Given the description of an element on the screen output the (x, y) to click on. 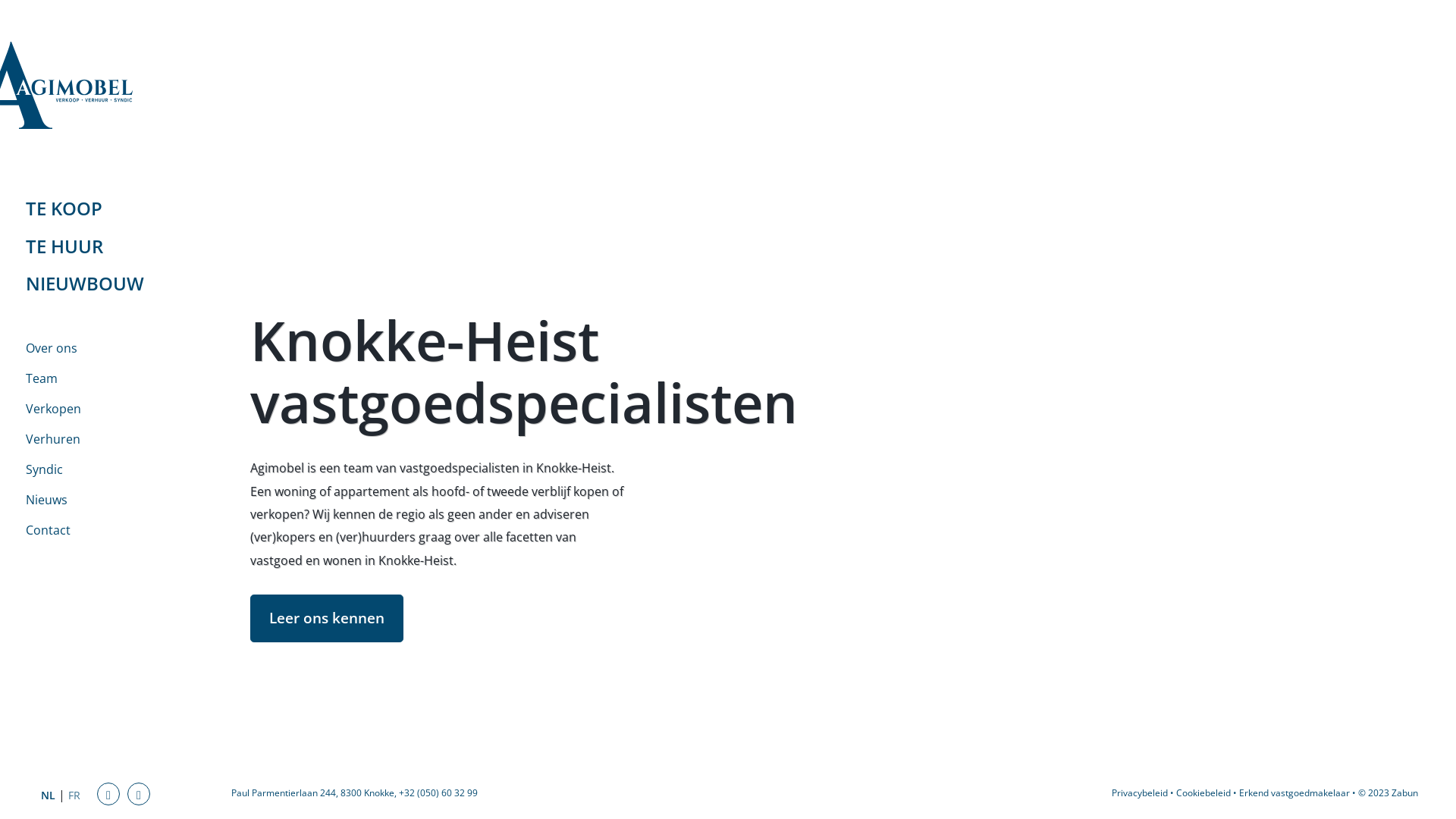
Over ons Element type: text (96, 347)
Erkend vastgoedmakelaar Element type: text (1294, 793)
Verkopen Element type: text (96, 408)
Cookiebeleid Element type: text (1203, 793)
NIEUWBOUW Element type: text (96, 283)
Syndic Element type: text (96, 469)
Team Element type: text (96, 378)
NL Element type: text (47, 794)
Leer ons kennen Element type: text (326, 618)
Nieuws Element type: text (96, 499)
Privacybeleid Element type: text (1139, 793)
TE KOOP Element type: text (96, 208)
Contact Element type: text (96, 529)
FR Element type: text (74, 794)
TE HUUR Element type: text (96, 246)
Verhuren Element type: text (96, 438)
